Given the description of an element on the screen output the (x, y) to click on. 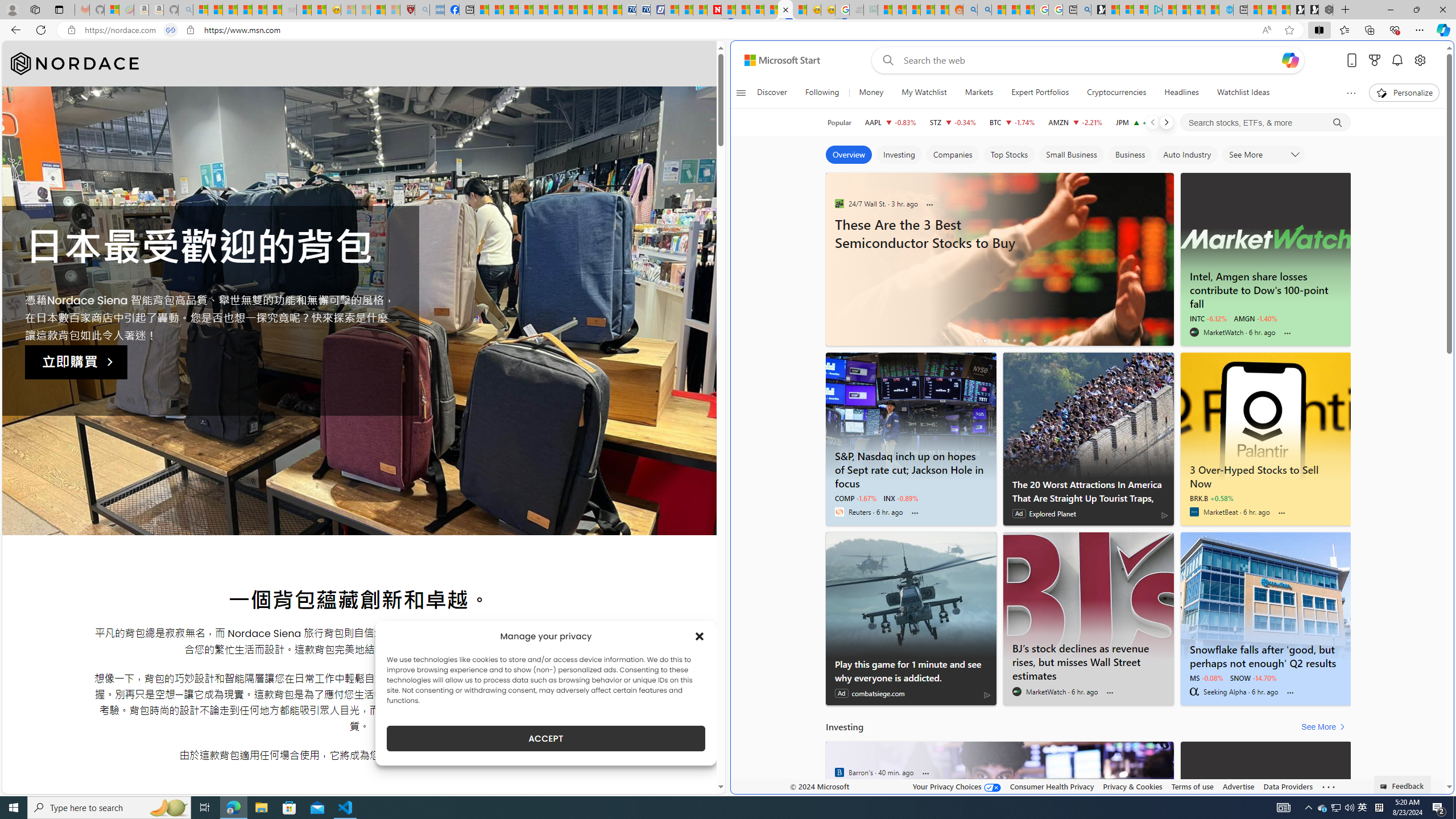
Cryptocurrencies (1116, 92)
